Given the description of an element on the screen output the (x, y) to click on. 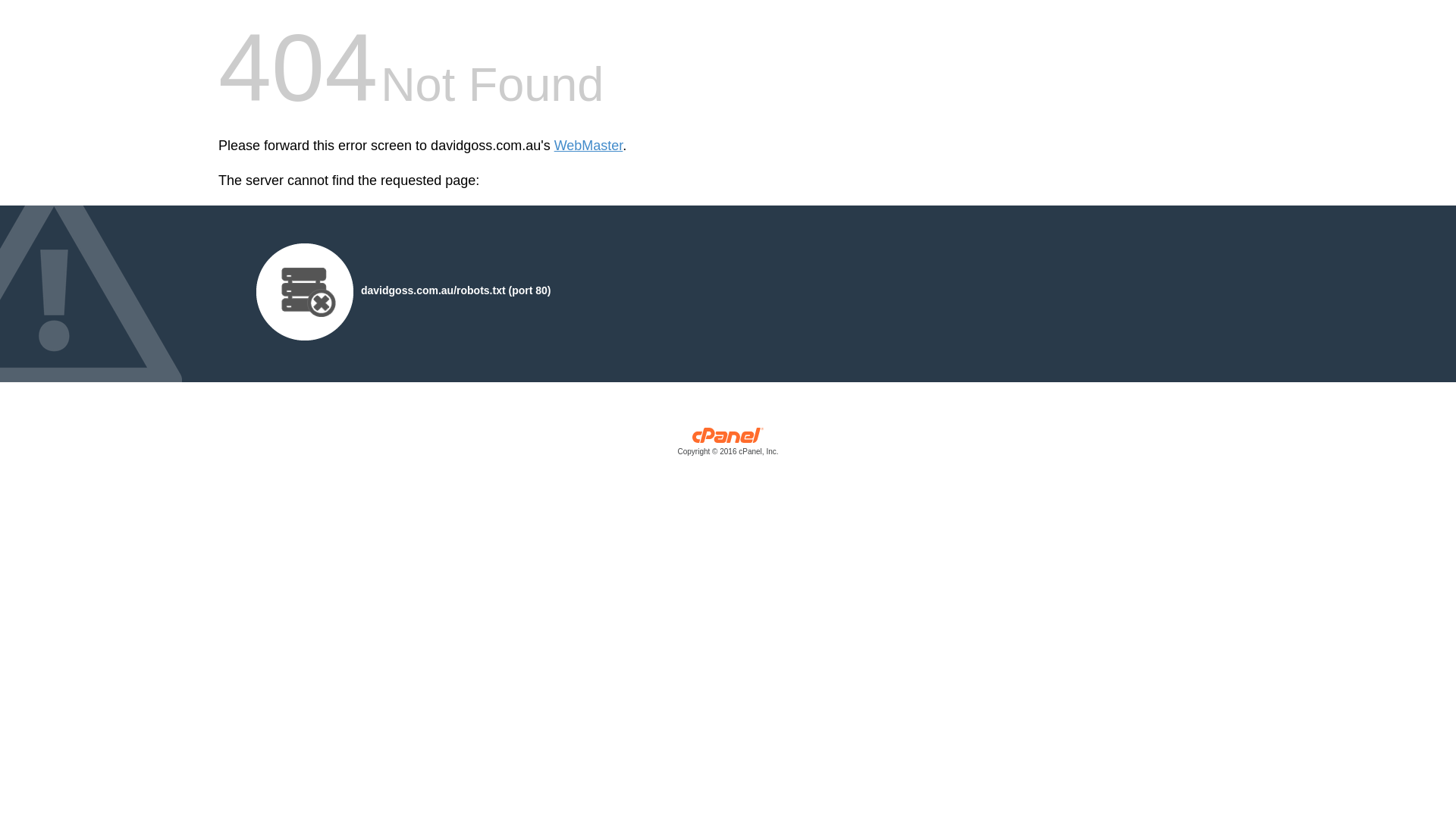
WebMaster Element type: text (588, 145)
